Given the description of an element on the screen output the (x, y) to click on. 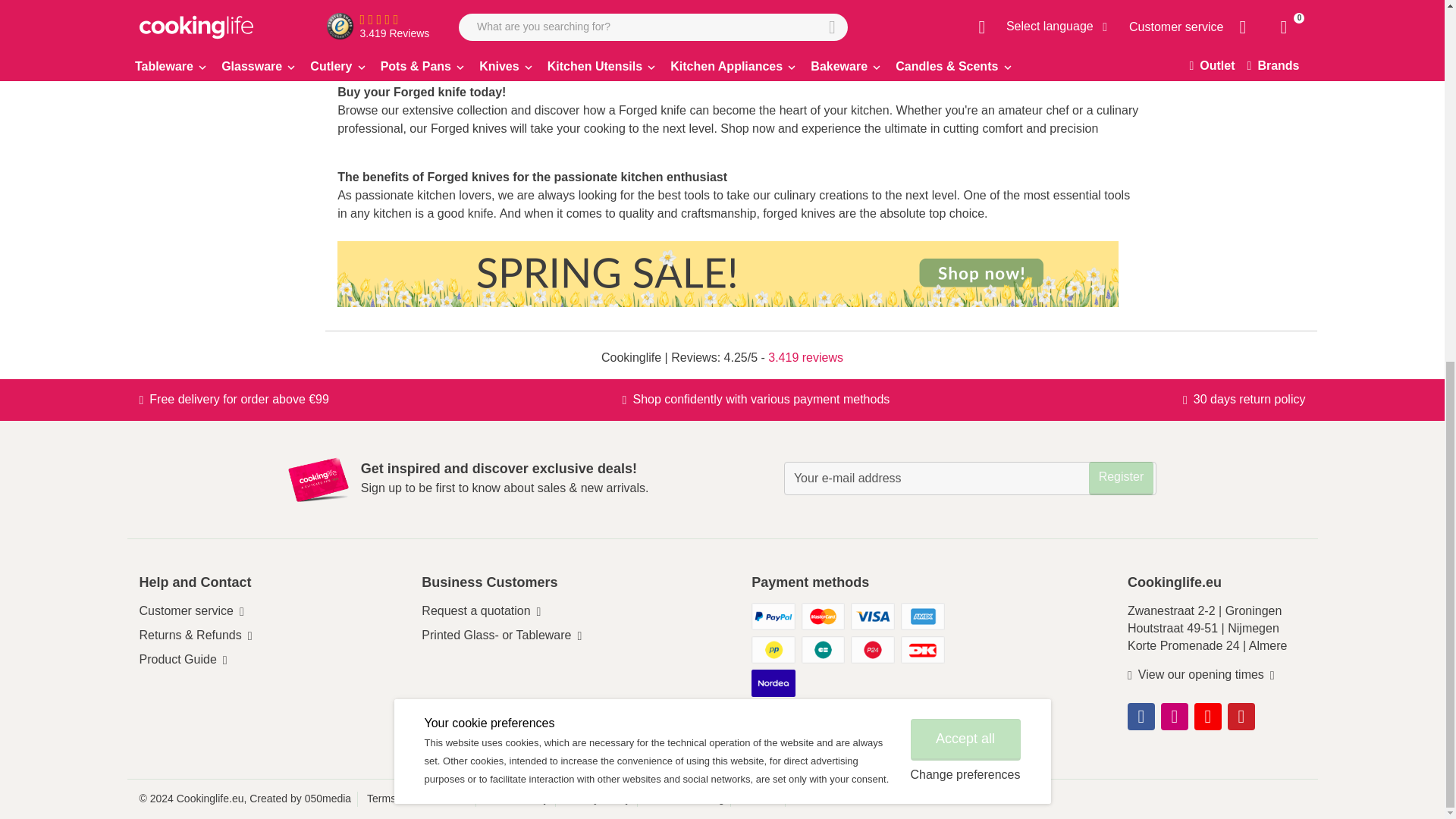
Creditcard (922, 649)
Creditcard (823, 615)
Facebook (1140, 716)
YouTube (1207, 716)
Creditcard (922, 615)
Kookwinkel Nijmegen (1202, 627)
Przelewy24 (872, 649)
Creditcard (872, 615)
Pinterest (1241, 716)
Creditcard (772, 649)
Creditcard (772, 682)
Creditcard (823, 649)
Paypal (772, 615)
Kookwinkel Groningen (1203, 610)
Instagram (1174, 716)
